Given the description of an element on the screen output the (x, y) to click on. 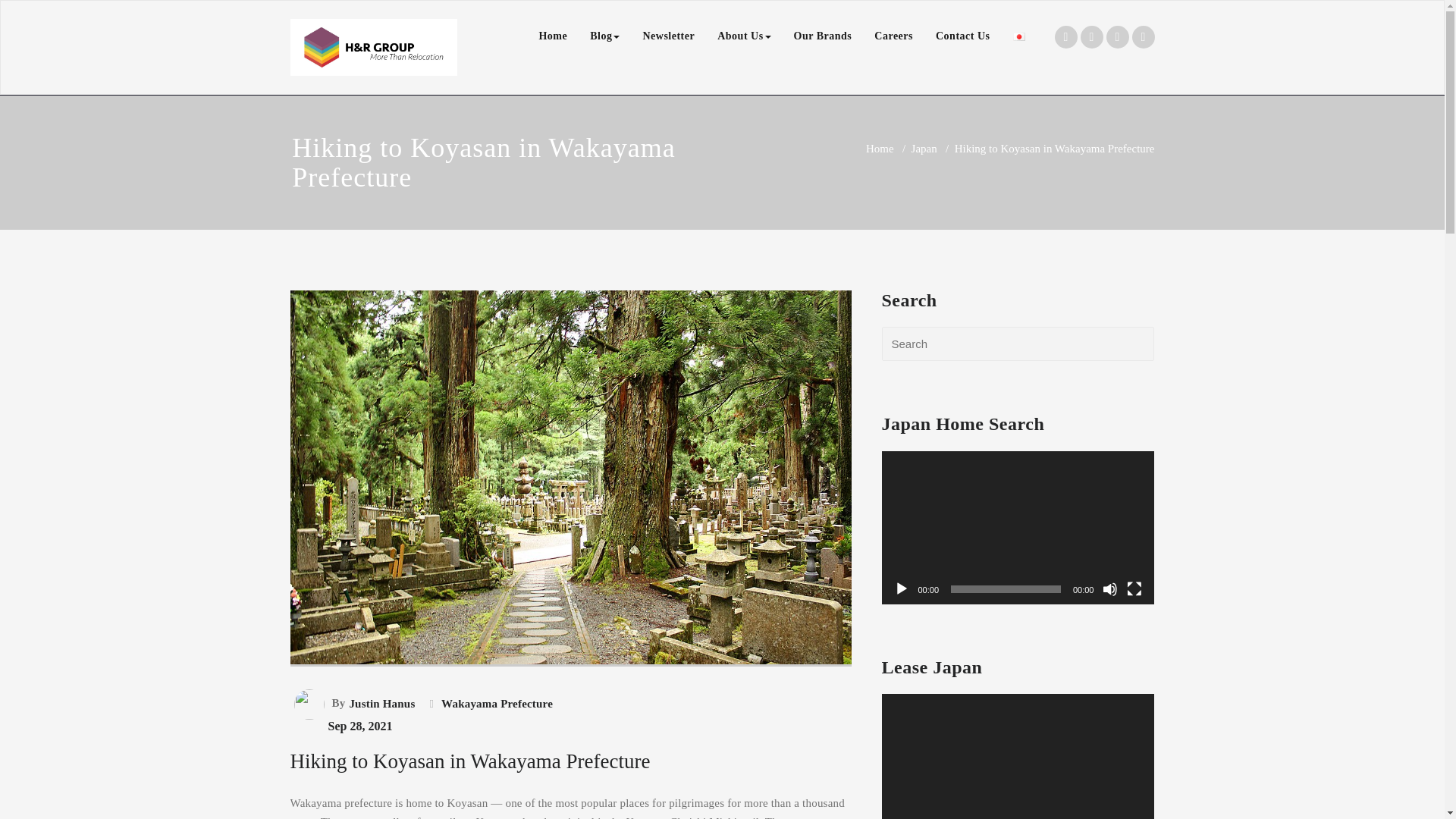
Hiking to Koyasan in Wakayama Prefecture (469, 761)
Wakayama Prefecture (495, 703)
Careers (893, 36)
Blog (604, 36)
About Us (743, 36)
Japan (924, 148)
Hiking to Koyasan in Wakayama Prefecture (569, 685)
Our Brands (823, 36)
Justin Hanus (379, 703)
